Given the description of an element on the screen output the (x, y) to click on. 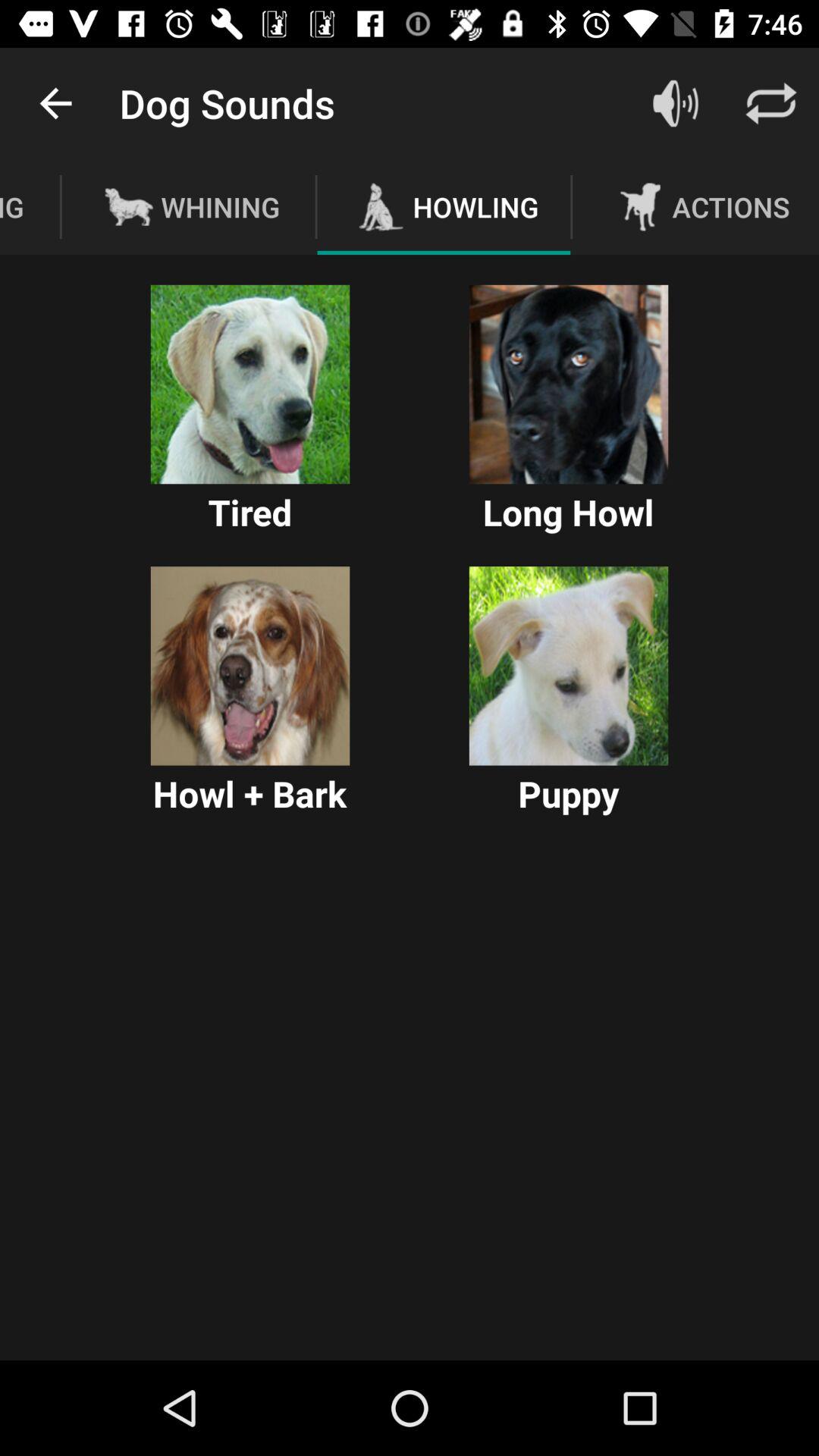
change dog (249, 665)
